Given the description of an element on the screen output the (x, y) to click on. 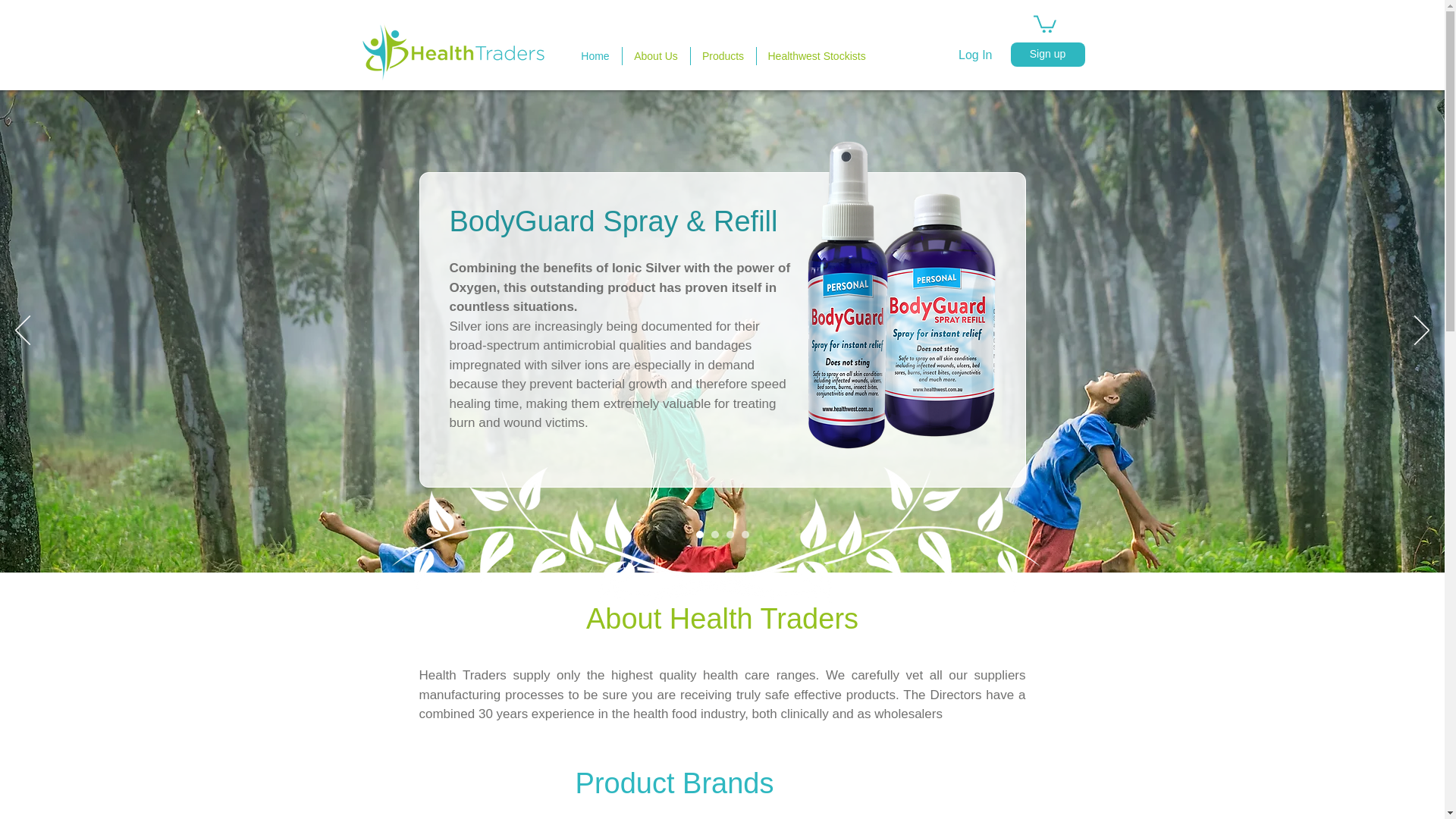
Log In (975, 54)
Products (722, 55)
Healthwest Stockists (815, 55)
Sign up (1047, 54)
About Us (655, 55)
Home (595, 55)
